Given the description of an element on the screen output the (x, y) to click on. 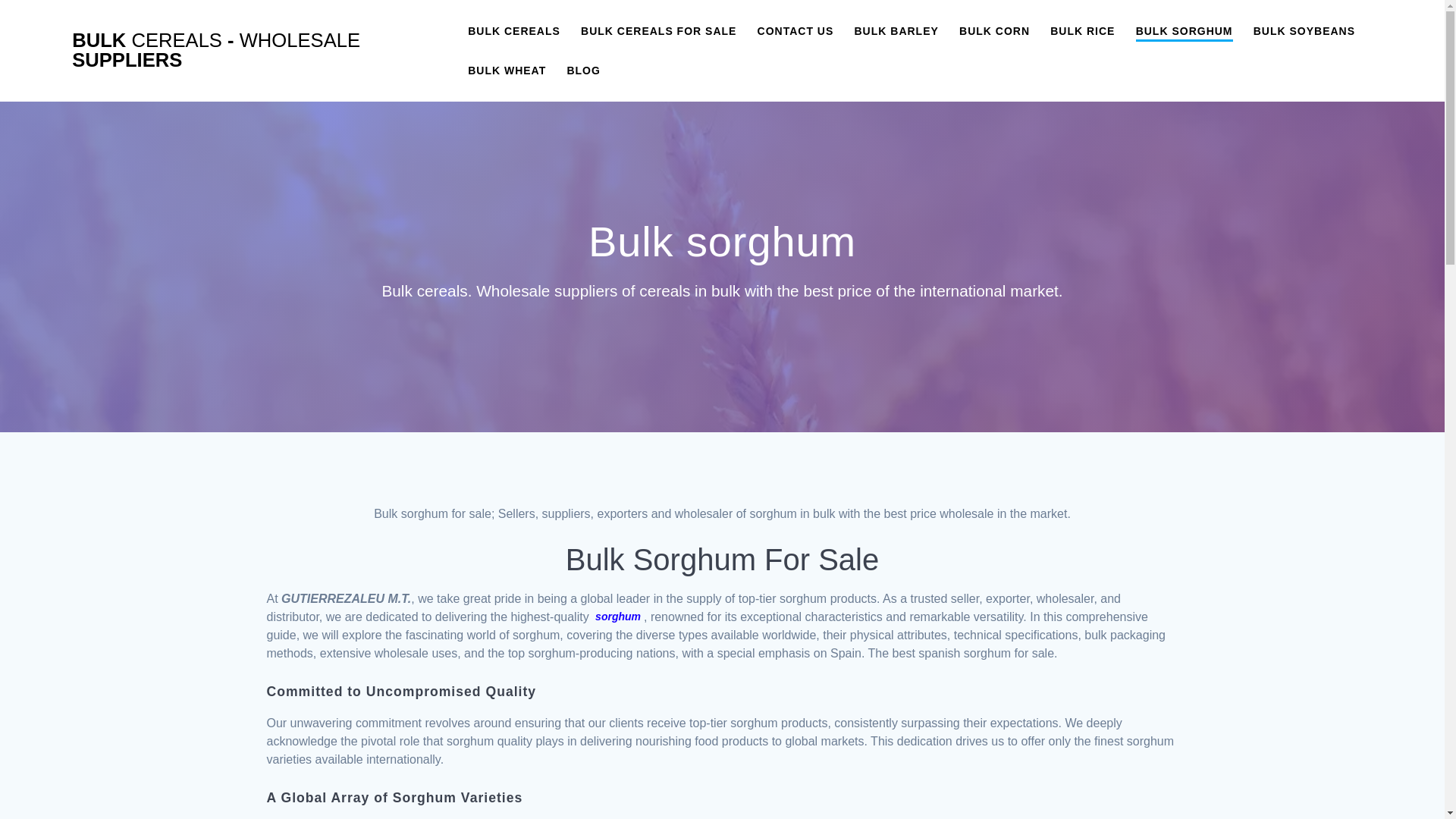
CONTACT US (795, 30)
BULK BARLEY (895, 30)
BULK RICE (1082, 30)
BULK WHEAT (506, 70)
BULK SOYBEANS (1304, 30)
BULK CEREALS FOR SALE (658, 30)
BLOG (582, 70)
BULK SORGHUM (1184, 31)
BULK CEREALS (513, 30)
BULK CORN (994, 30)
